Given the description of an element on the screen output the (x, y) to click on. 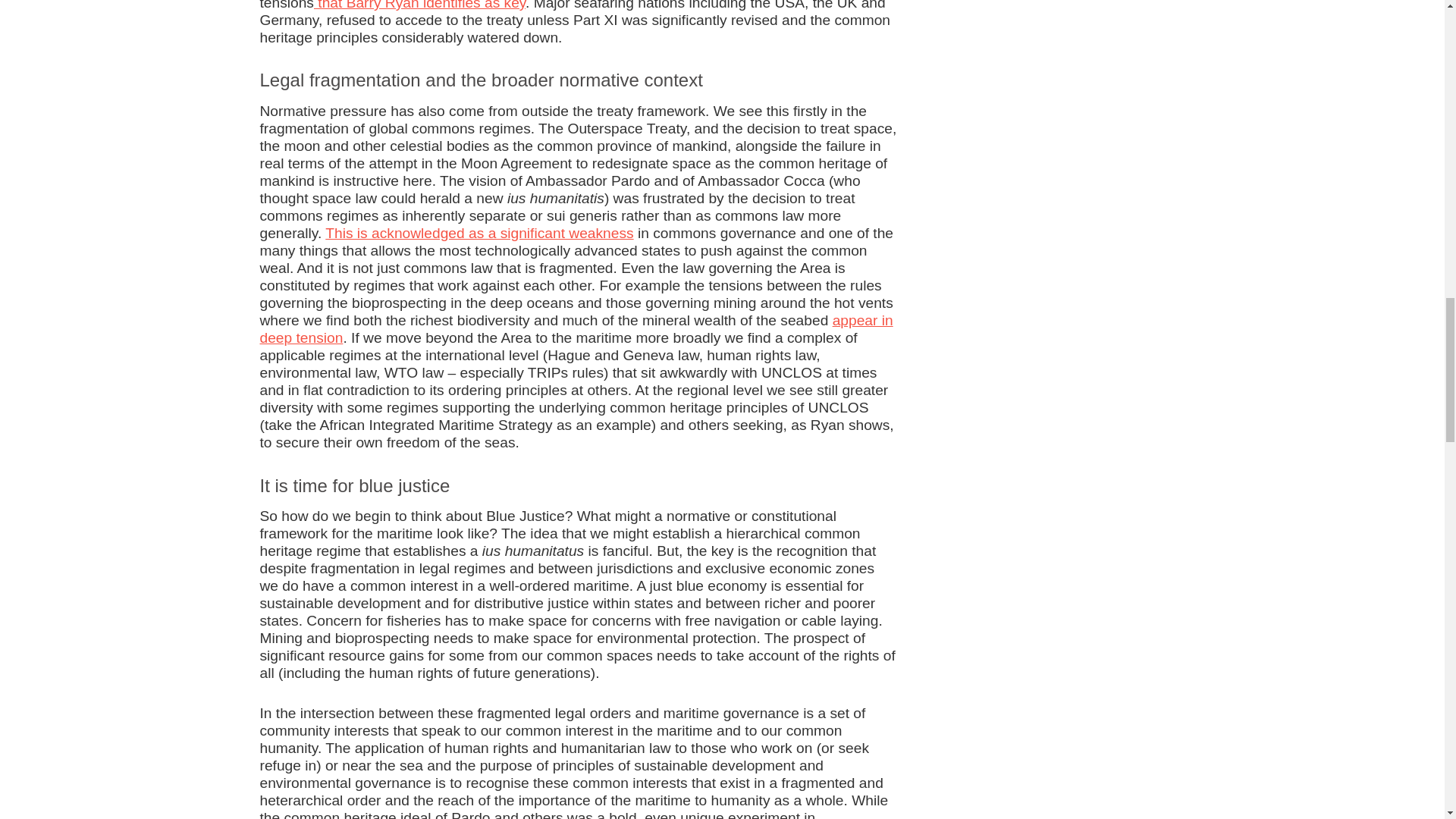
This is acknowledged as a significant weakness (478, 232)
appear in deep tension (575, 328)
that Barry Ryan identifies as key (419, 5)
